Given the description of an element on the screen output the (x, y) to click on. 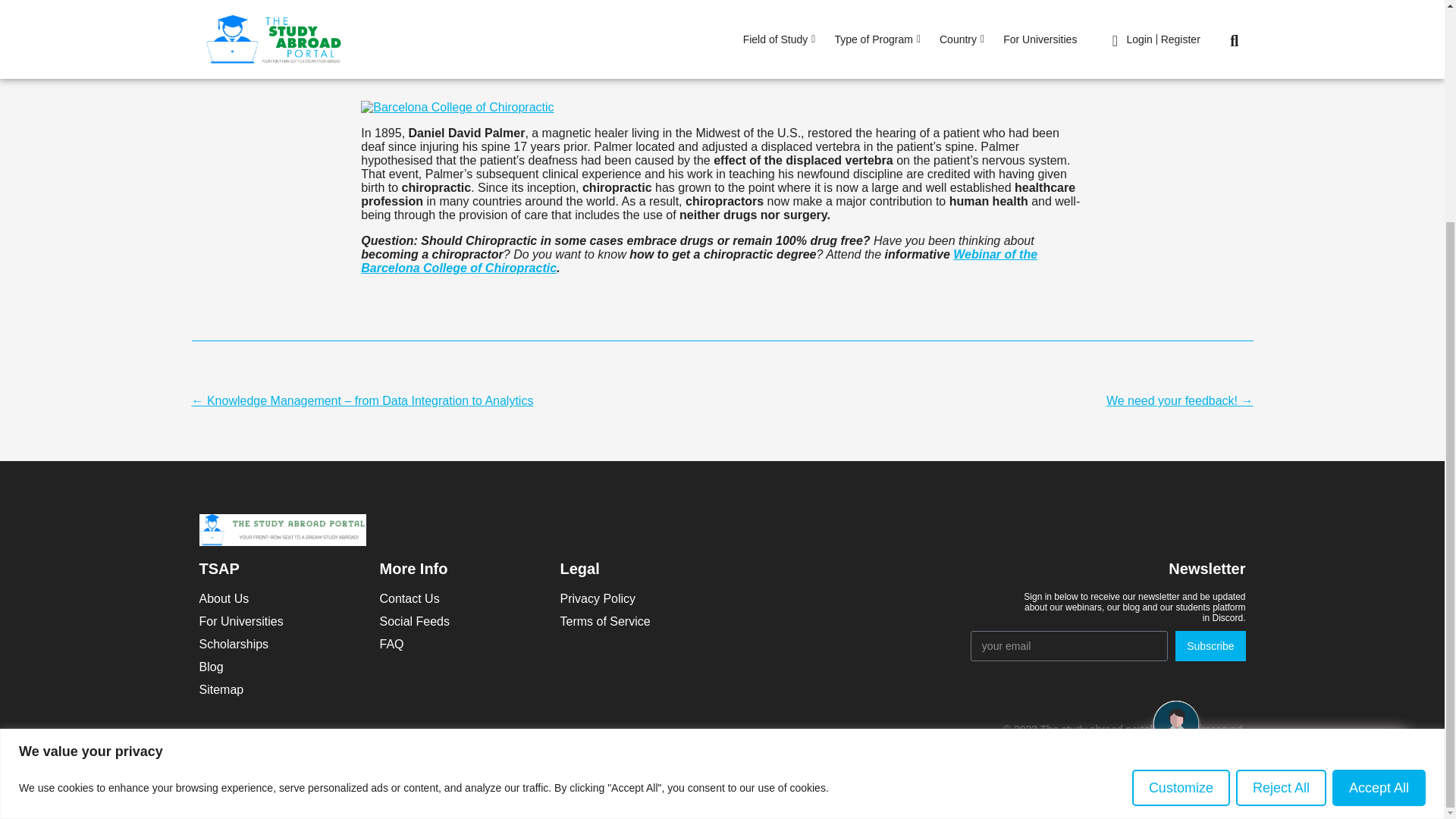
Reject All (1281, 492)
Accept All (1378, 492)
Customize (1181, 492)
